Given the description of an element on the screen output the (x, y) to click on. 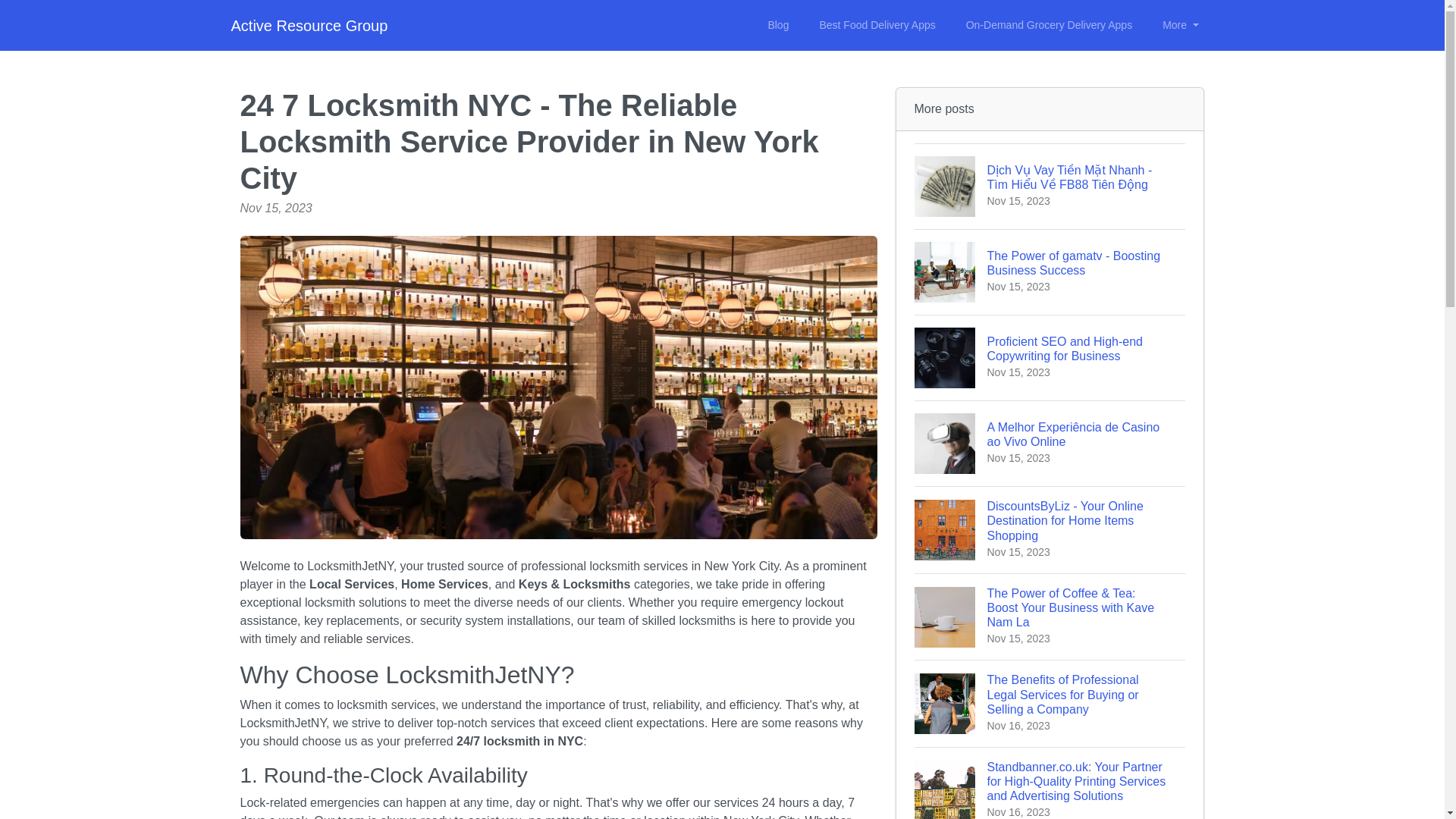
On-Demand Grocery Delivery Apps (1048, 25)
Best Food Delivery Apps (876, 25)
Active Resource Group (308, 25)
More (1180, 25)
Blog (1050, 271)
